Given the description of an element on the screen output the (x, y) to click on. 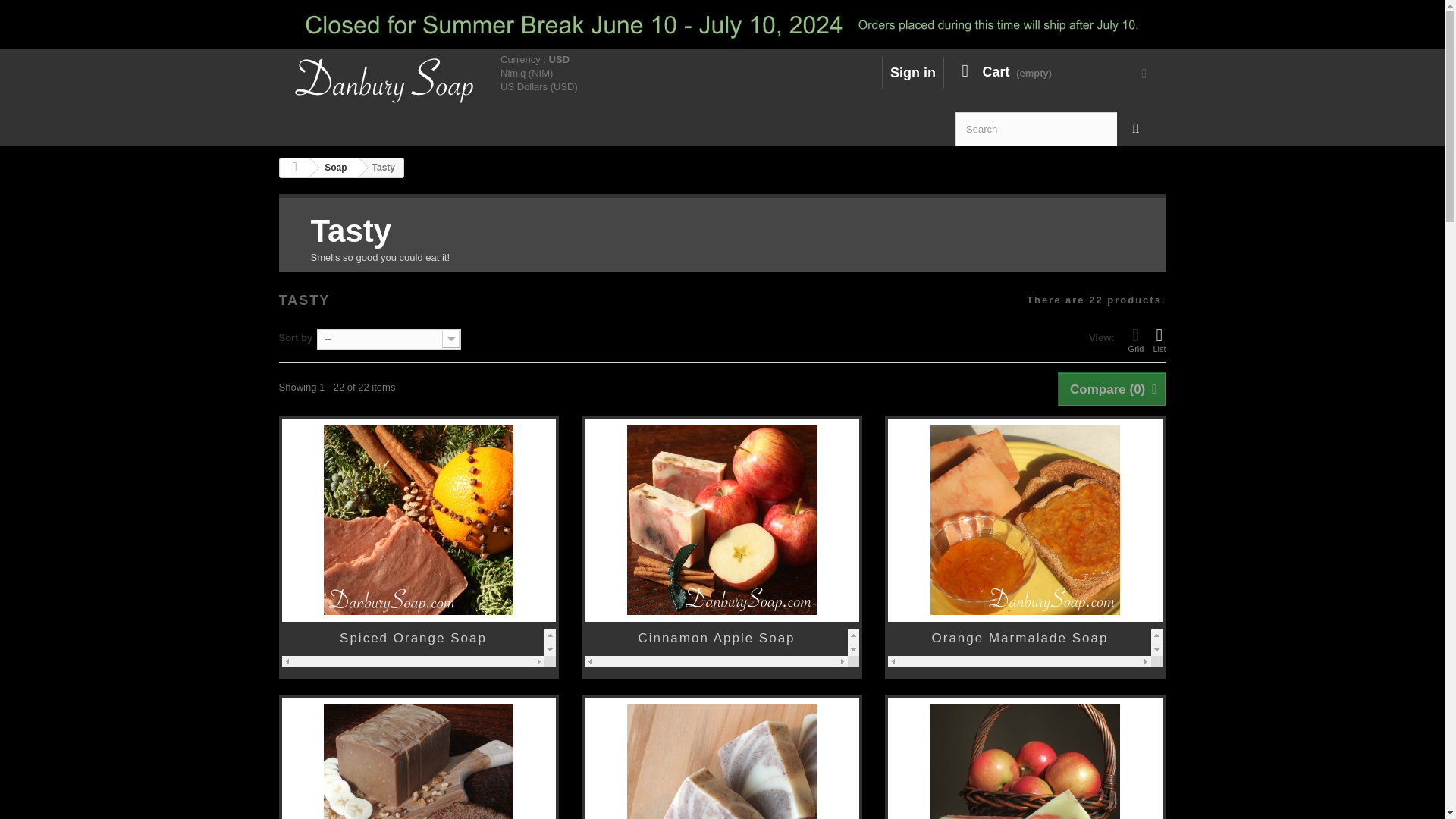
Spiced Orange Soap (418, 520)
Closed for Summer Break 2024 (722, 24)
Spiced Orange Soap (412, 638)
Log in to your customer account (912, 72)
Orange Marmalade Soap (1019, 638)
Spiced Orange Soap (412, 638)
View my shopping cart (1051, 73)
Sign in (912, 72)
Danbury Soap (389, 80)
Soap (332, 167)
